Given the description of an element on the screen output the (x, y) to click on. 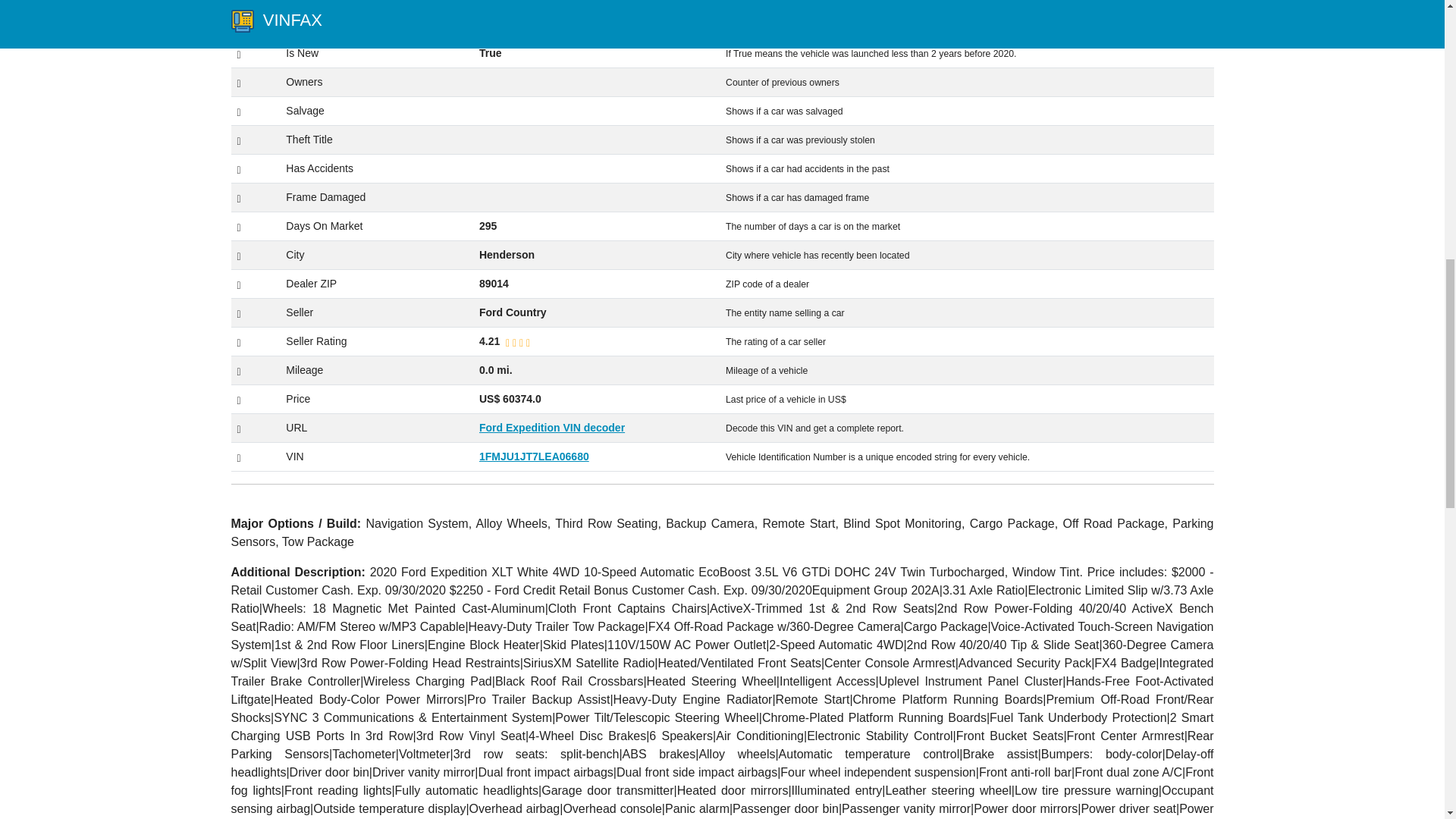
Ford Expedition VIN decoder (551, 427)
Get Report for 1FMJU1JT7LEA06680 (534, 456)
1FMJU1JT7LEA06680 (534, 456)
Ford Expedition VIN decoder (551, 427)
